Given the description of an element on the screen output the (x, y) to click on. 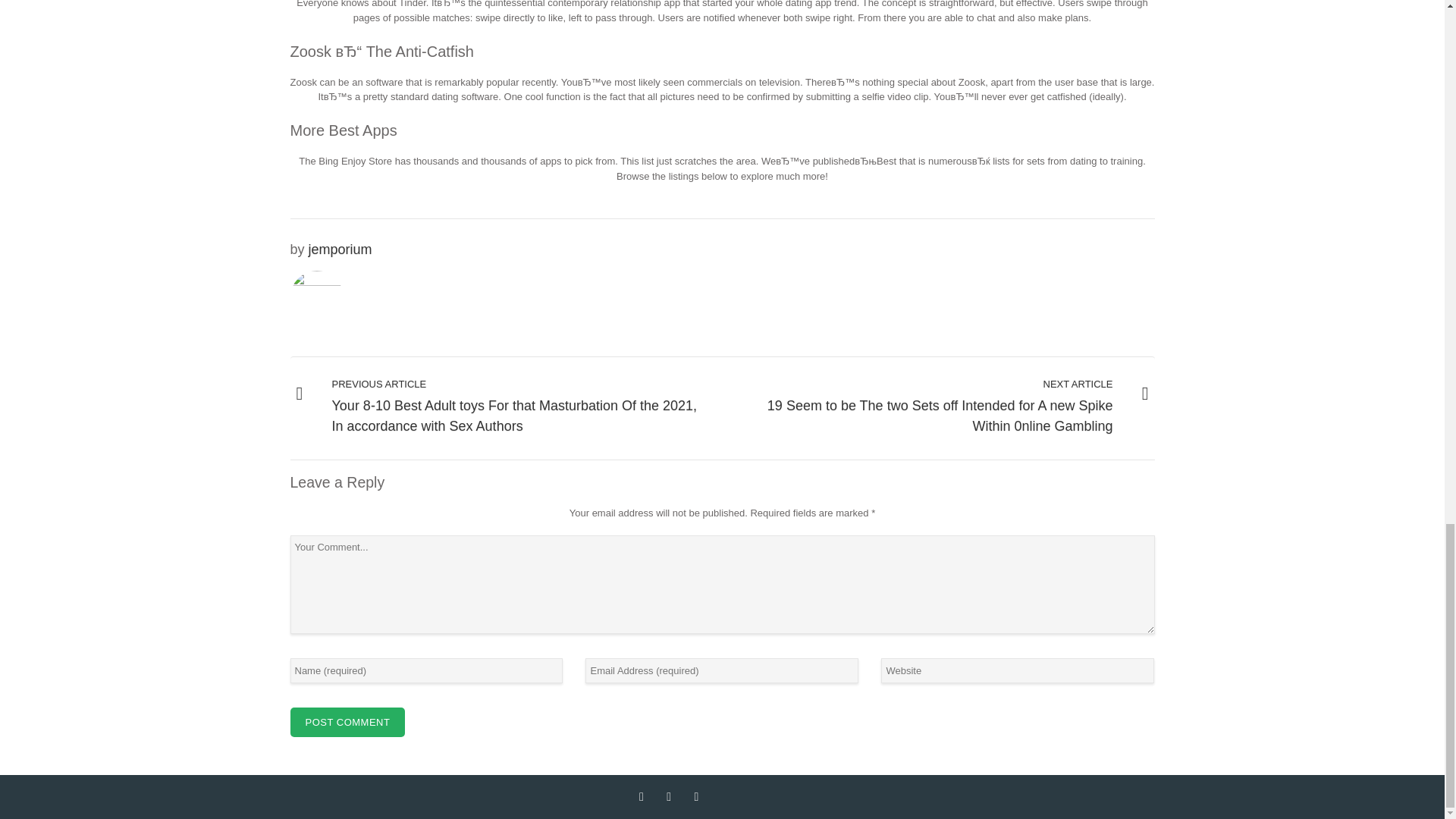
jemporium (340, 249)
Posts by jemporium (340, 249)
Post Comment (346, 722)
Post Comment (346, 722)
